Given the description of an element on the screen output the (x, y) to click on. 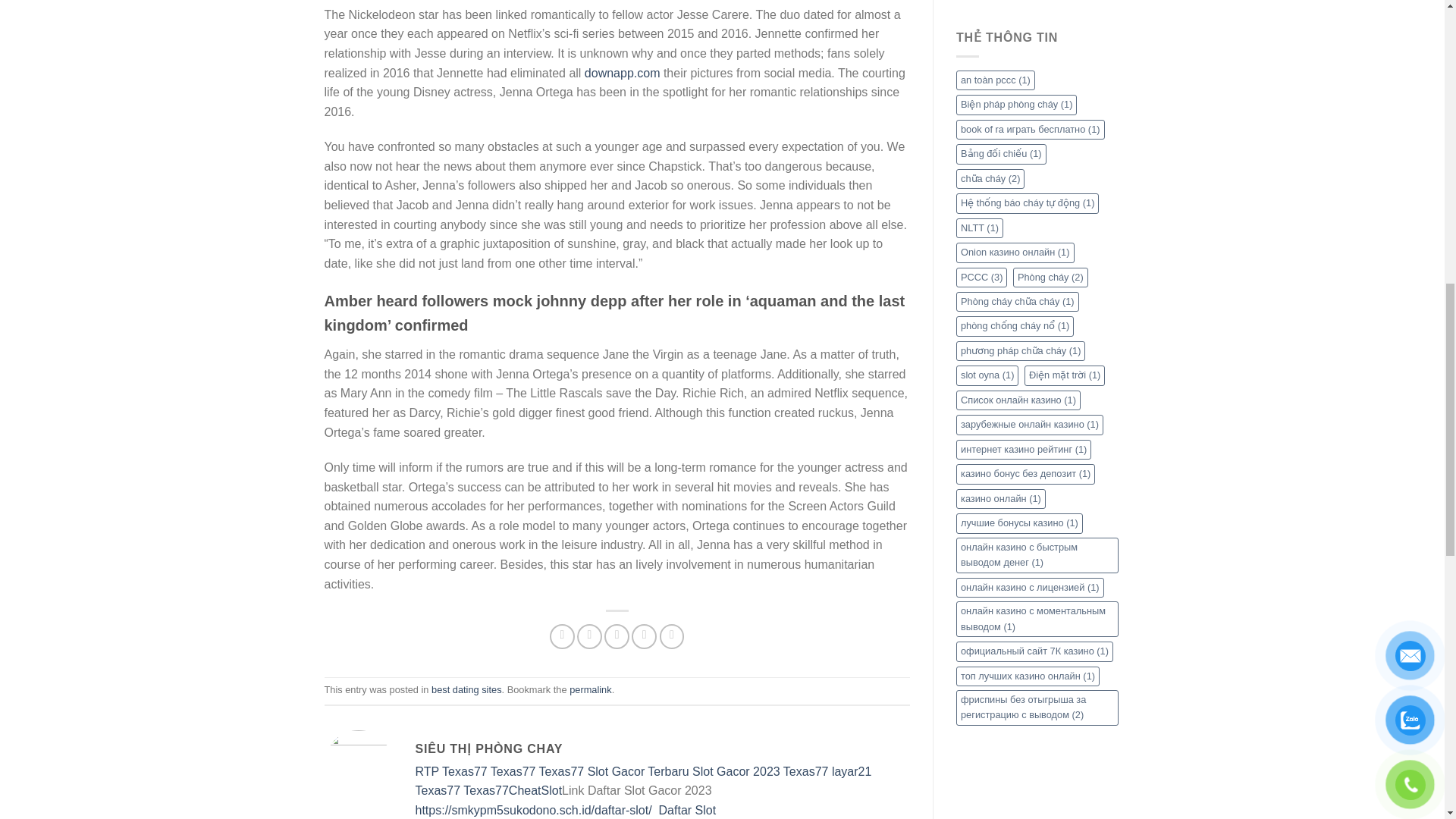
downapp.com (623, 72)
Share on Telegram (671, 636)
Share on LinkedIn (643, 636)
Email to a Friend (616, 636)
Share on Facebook (562, 636)
Share on Twitter (589, 636)
